Given the description of an element on the screen output the (x, y) to click on. 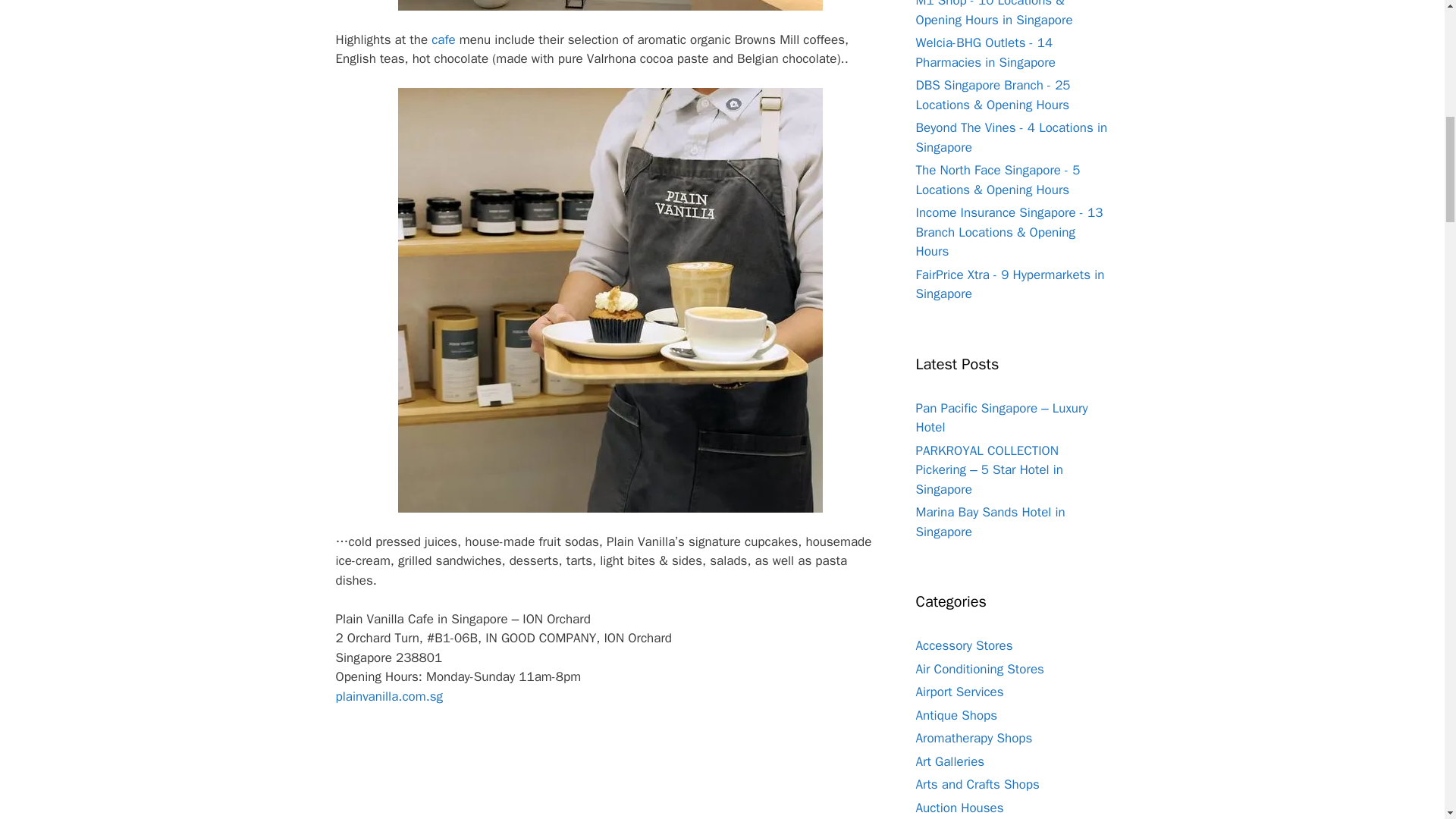
Accessory Stores (964, 645)
Art Galleries (950, 761)
Airport Services (959, 691)
Aromatherapy Shops (973, 738)
cafe (442, 39)
plainvanilla.com.sg (388, 696)
FairPrice Xtra - 9 Hypermarkets in Singapore (1010, 284)
Arts and Crafts Shops (977, 784)
Welcia-BHG Outlets - 14 Pharmacies in Singapore (985, 52)
Antique Shops (956, 715)
